Given the description of an element on the screen output the (x, y) to click on. 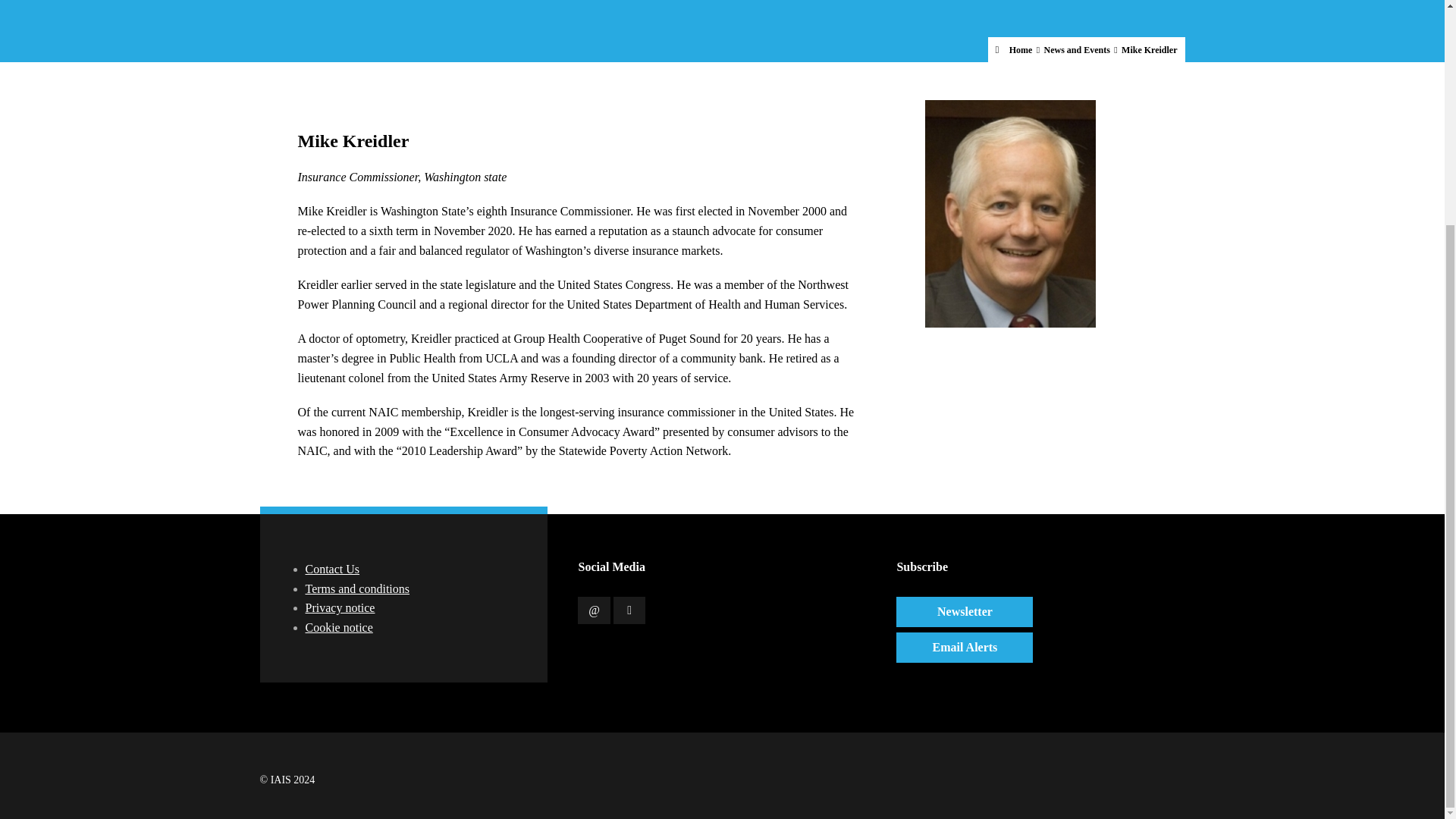
YouTube (628, 610)
Email Alerts (964, 647)
Linkedin (594, 610)
Newsletter (964, 612)
